Given the description of an element on the screen output the (x, y) to click on. 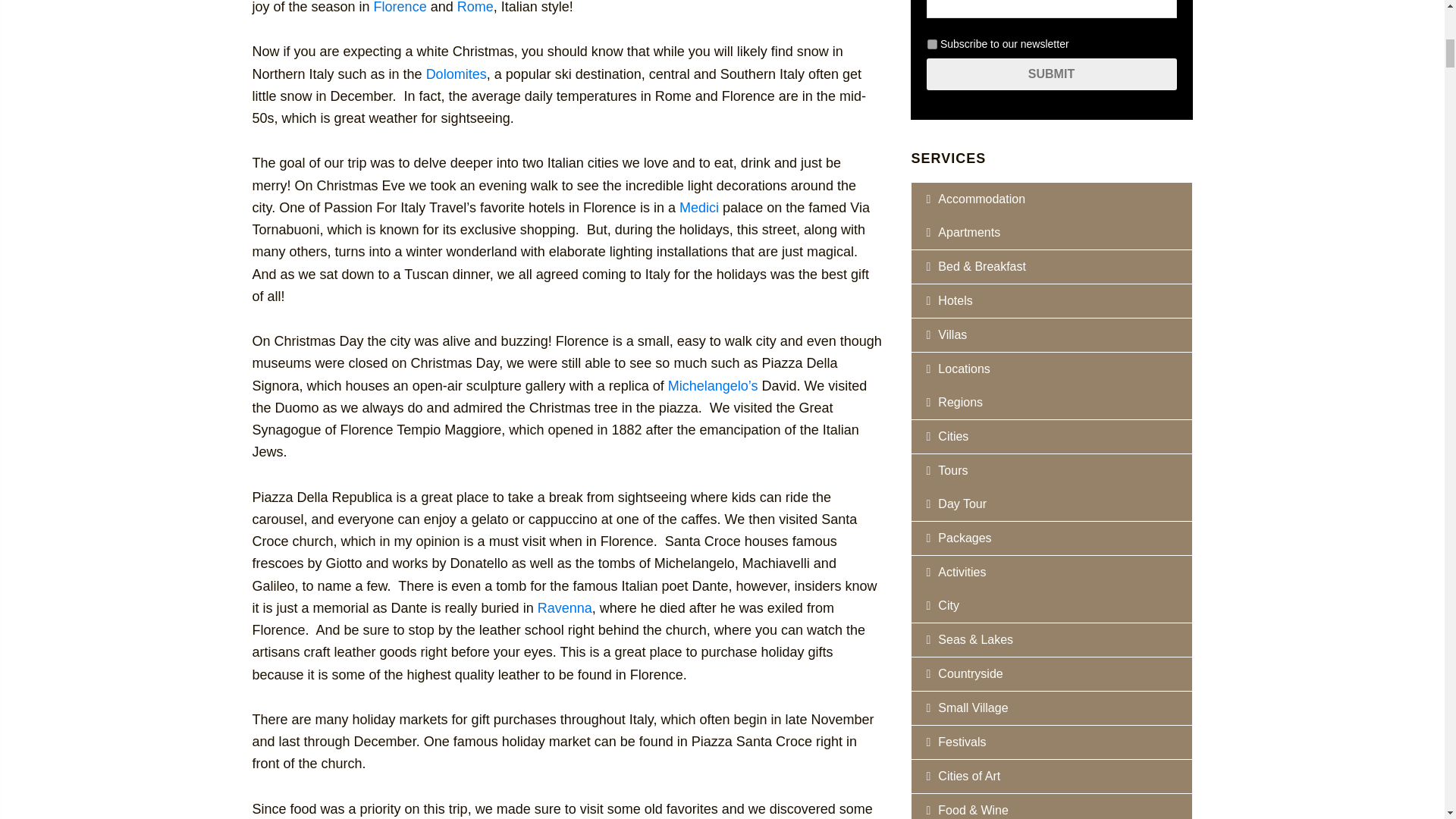
Submit (1051, 74)
Subscribe to our newsletter (931, 44)
